Given the description of an element on the screen output the (x, y) to click on. 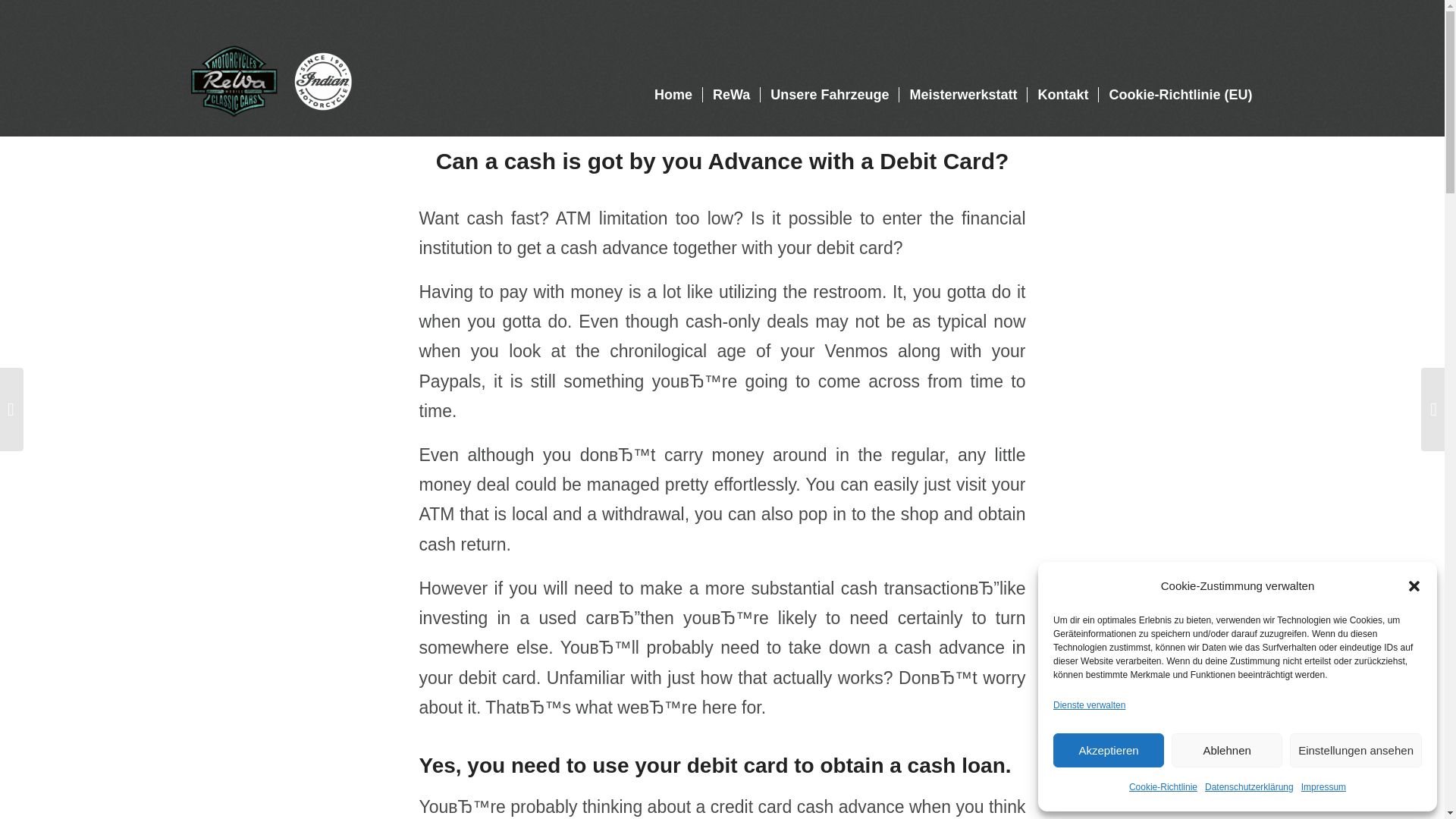
Meisterwerkstatt (962, 68)
Akzeptieren (1107, 750)
Dienste verwalten (1088, 705)
Can a cash is got by you Advance with a Debit Card? (722, 160)
Cookie-Richtlinie (1162, 787)
Unsere Fahrzeuge (829, 68)
Impressum (1323, 787)
Ablehnen (1227, 750)
Einstellungen ansehen (1356, 750)
